Given the description of an element on the screen output the (x, y) to click on. 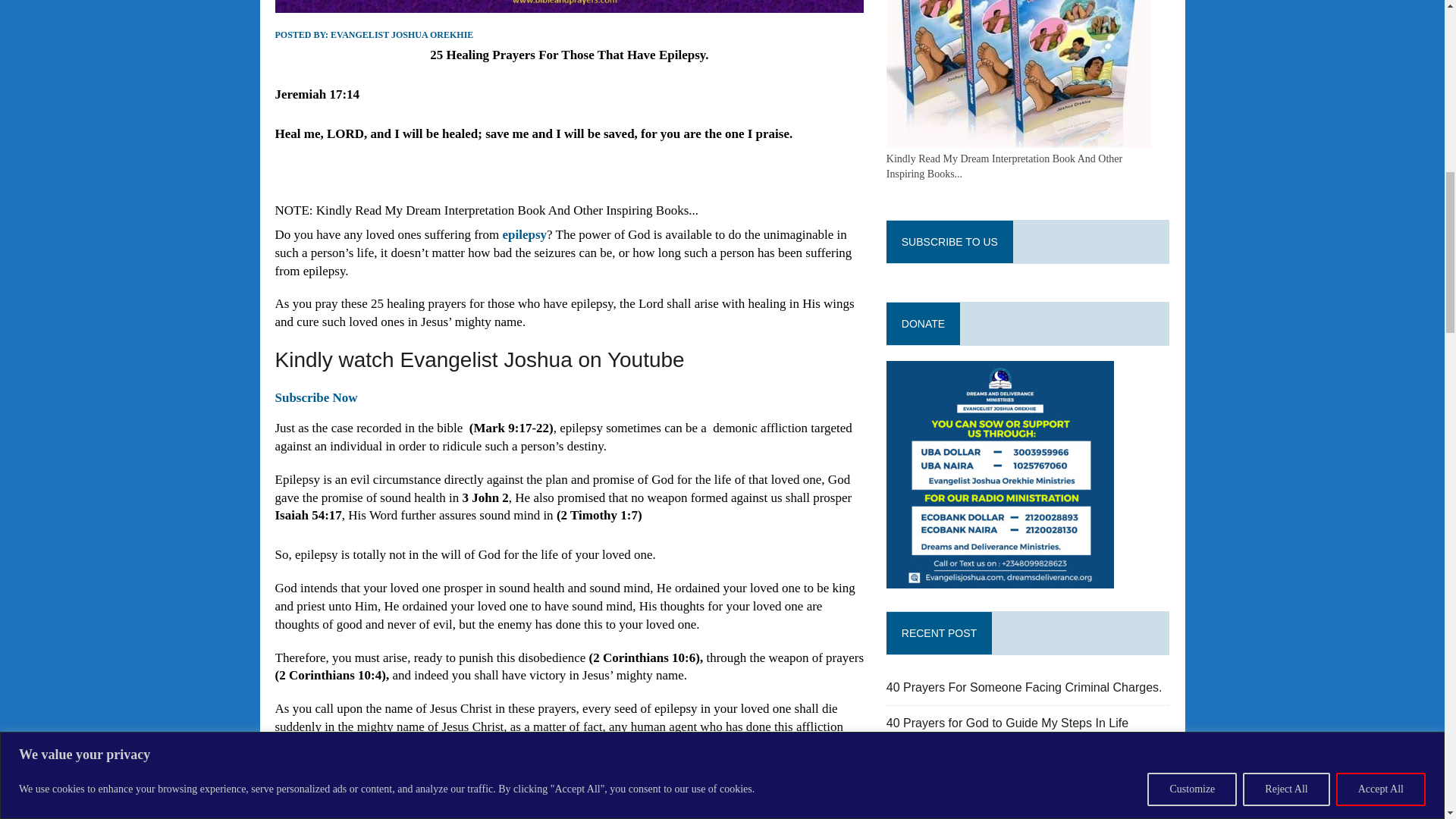
EVANGELIST JOSHUA OREKHIE (401, 34)
epilepsy (524, 234)
